Given the description of an element on the screen output the (x, y) to click on. 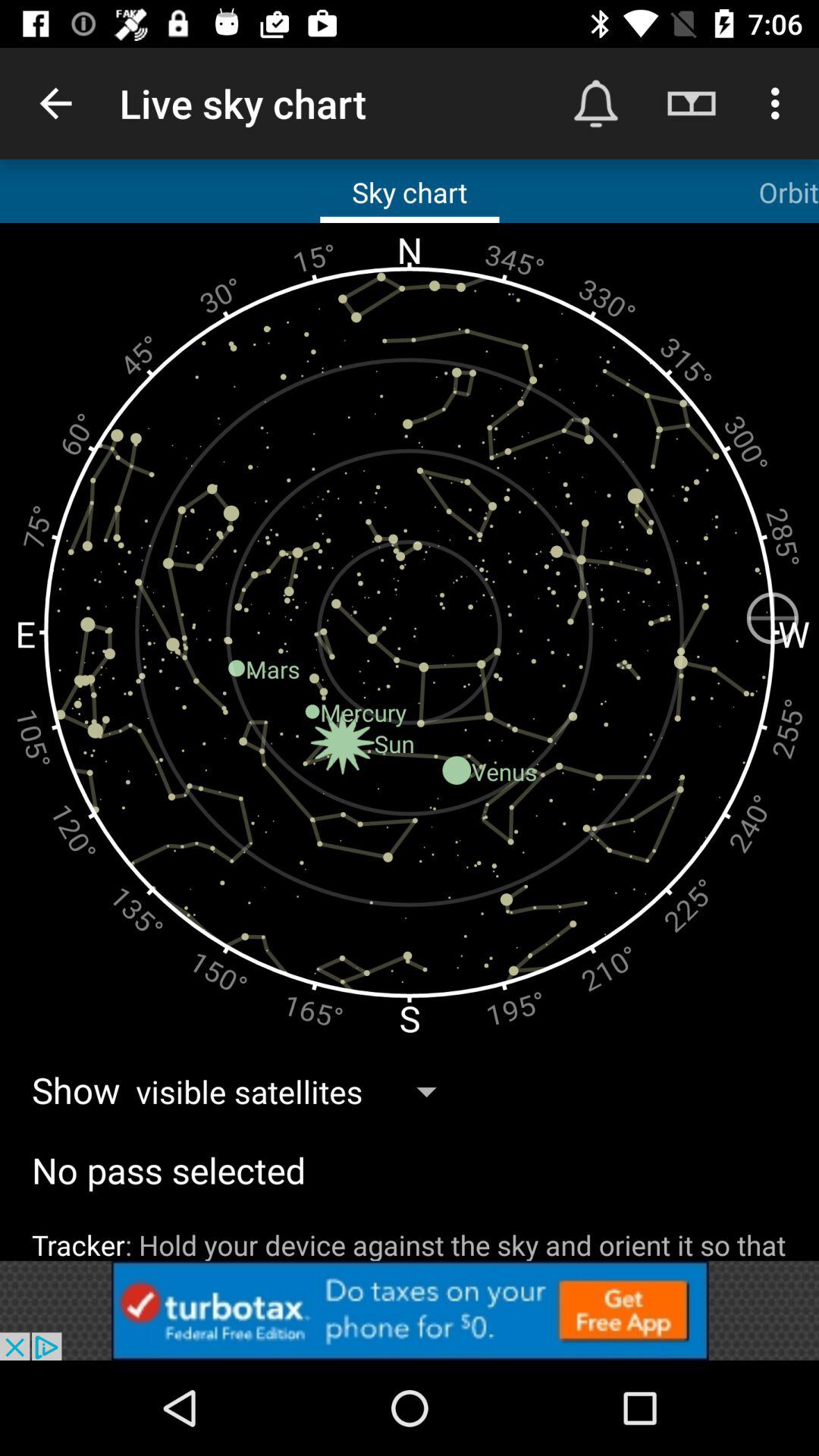
click advertisement (409, 1310)
